Given the description of an element on the screen output the (x, y) to click on. 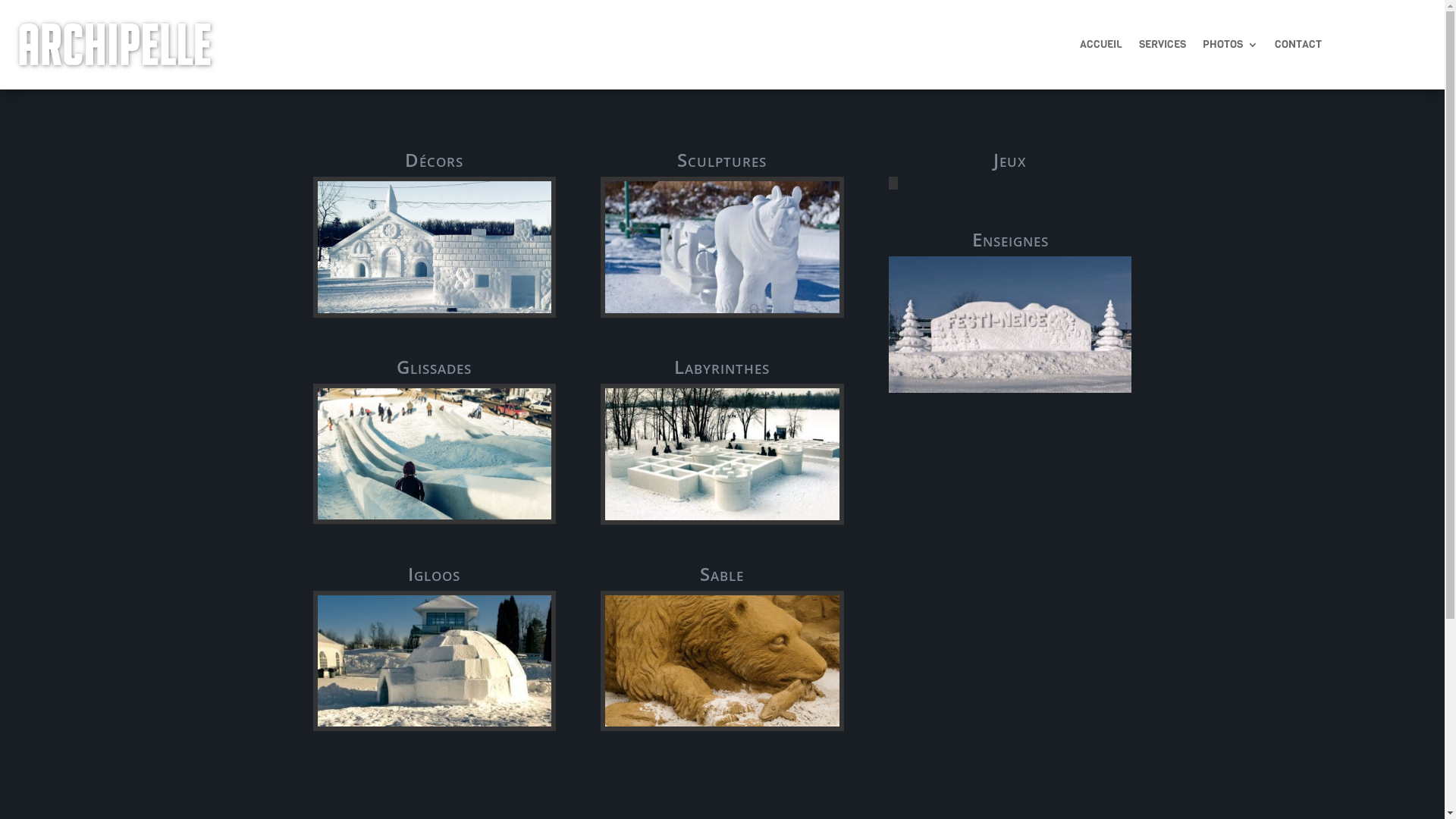
SERVICES Element type: text (1162, 47)
PHOTOS Element type: text (1230, 47)
ACCUEIL Element type: text (1100, 47)
CONTACT Element type: text (1297, 47)
